Given the description of an element on the screen output the (x, y) to click on. 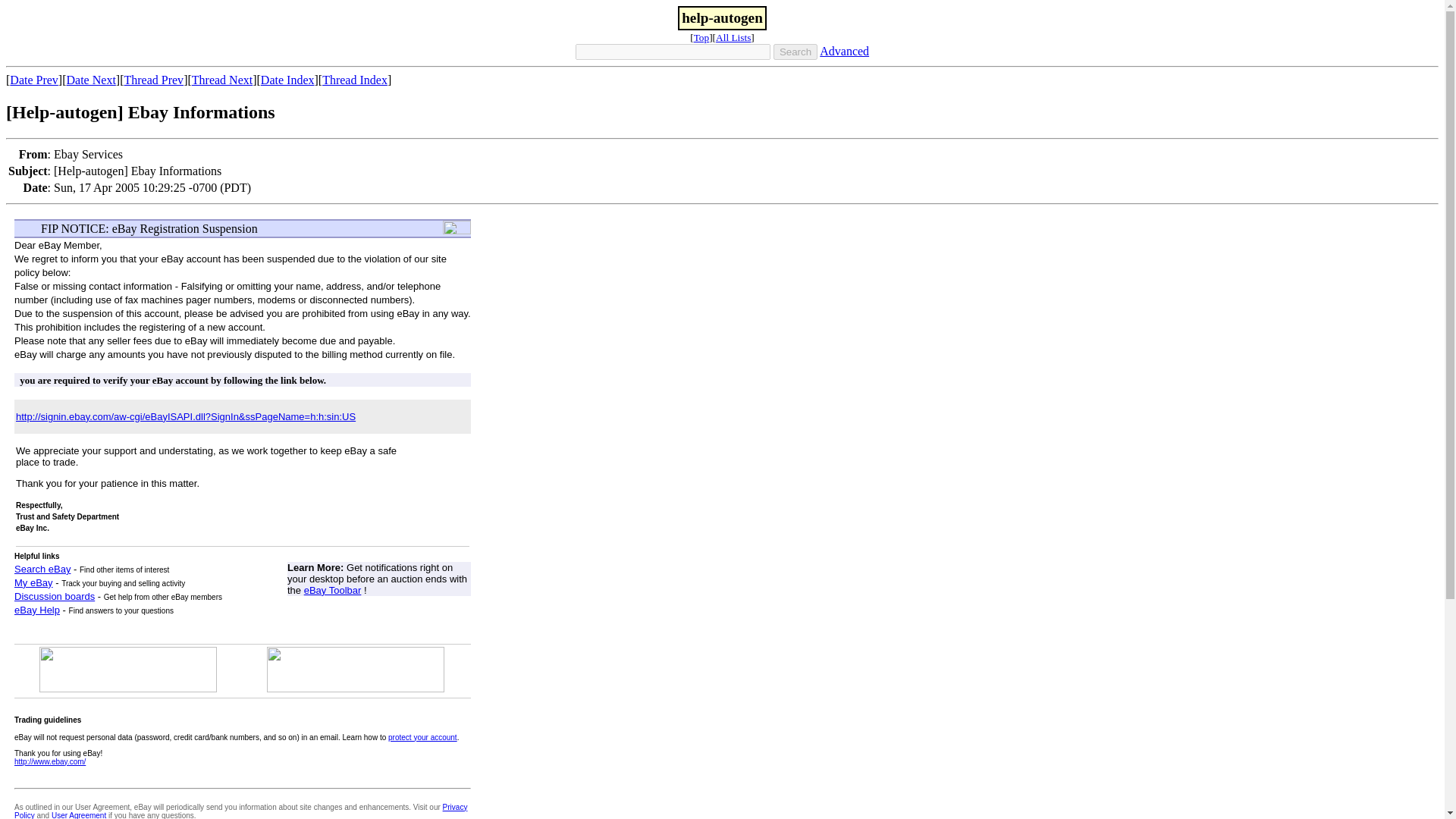
Thread Prev (153, 79)
Search eBay (41, 568)
Date Next (91, 79)
Date Prev (34, 79)
eBay Help (36, 609)
eBay Toolbar (332, 590)
protect your account (422, 737)
Privacy Policy (240, 811)
Search (794, 51)
All Lists (733, 37)
Search (794, 51)
My eBay (33, 582)
Thread Index (354, 79)
Top (702, 37)
Date Index (287, 79)
